Given the description of an element on the screen output the (x, y) to click on. 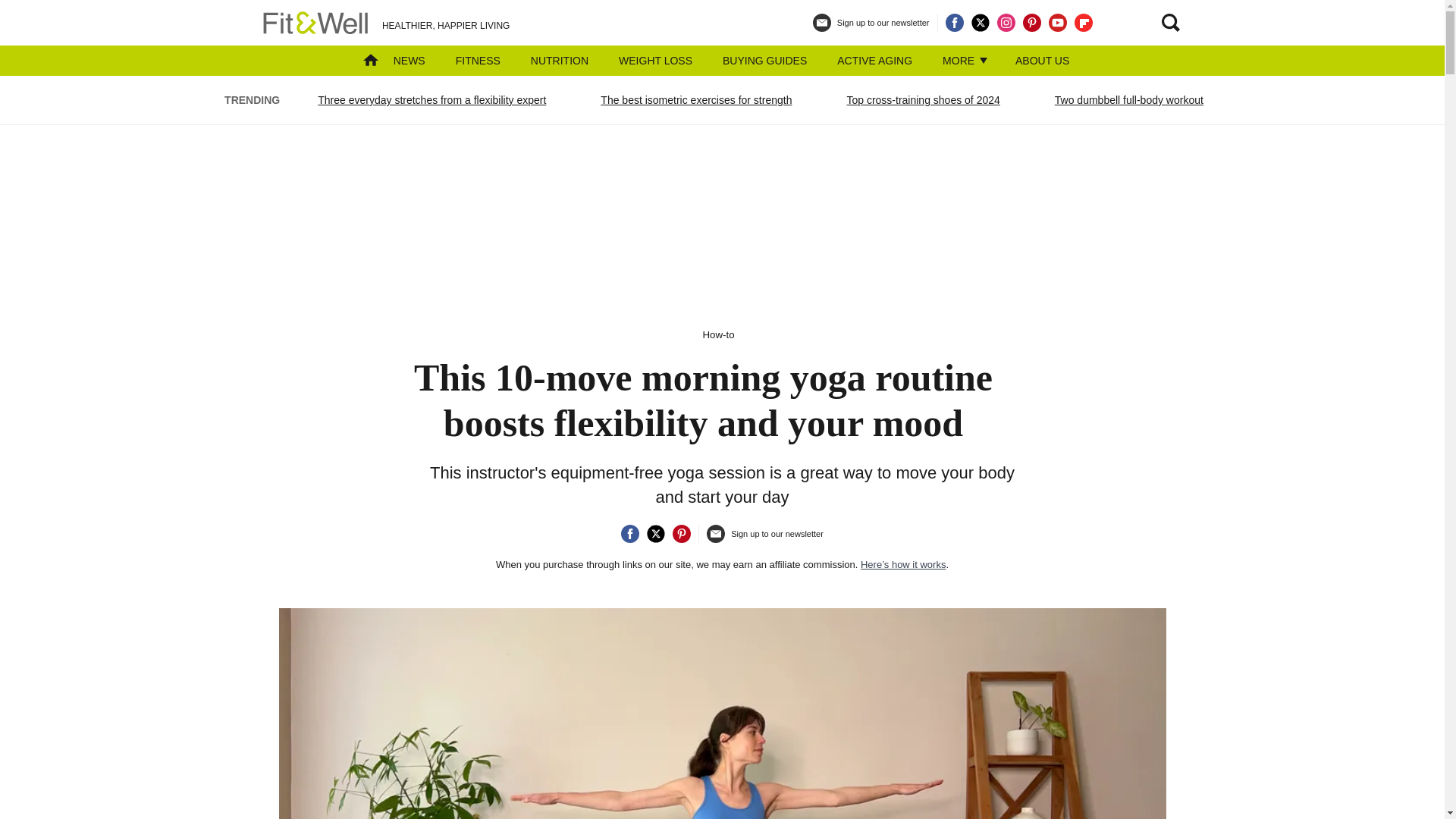
BUYING GUIDES (764, 60)
ACTIVE AGING (874, 60)
Top cross-training shoes of 2024 (922, 99)
HEALTHIER, HAPPIER LIVING (384, 22)
Sign up to our newsletter (871, 28)
Sign up to our newsletter (765, 539)
WEIGHT LOSS (655, 60)
FITNESS (477, 60)
NEWS (409, 60)
ABOUT US (1041, 60)
